Given the description of an element on the screen output the (x, y) to click on. 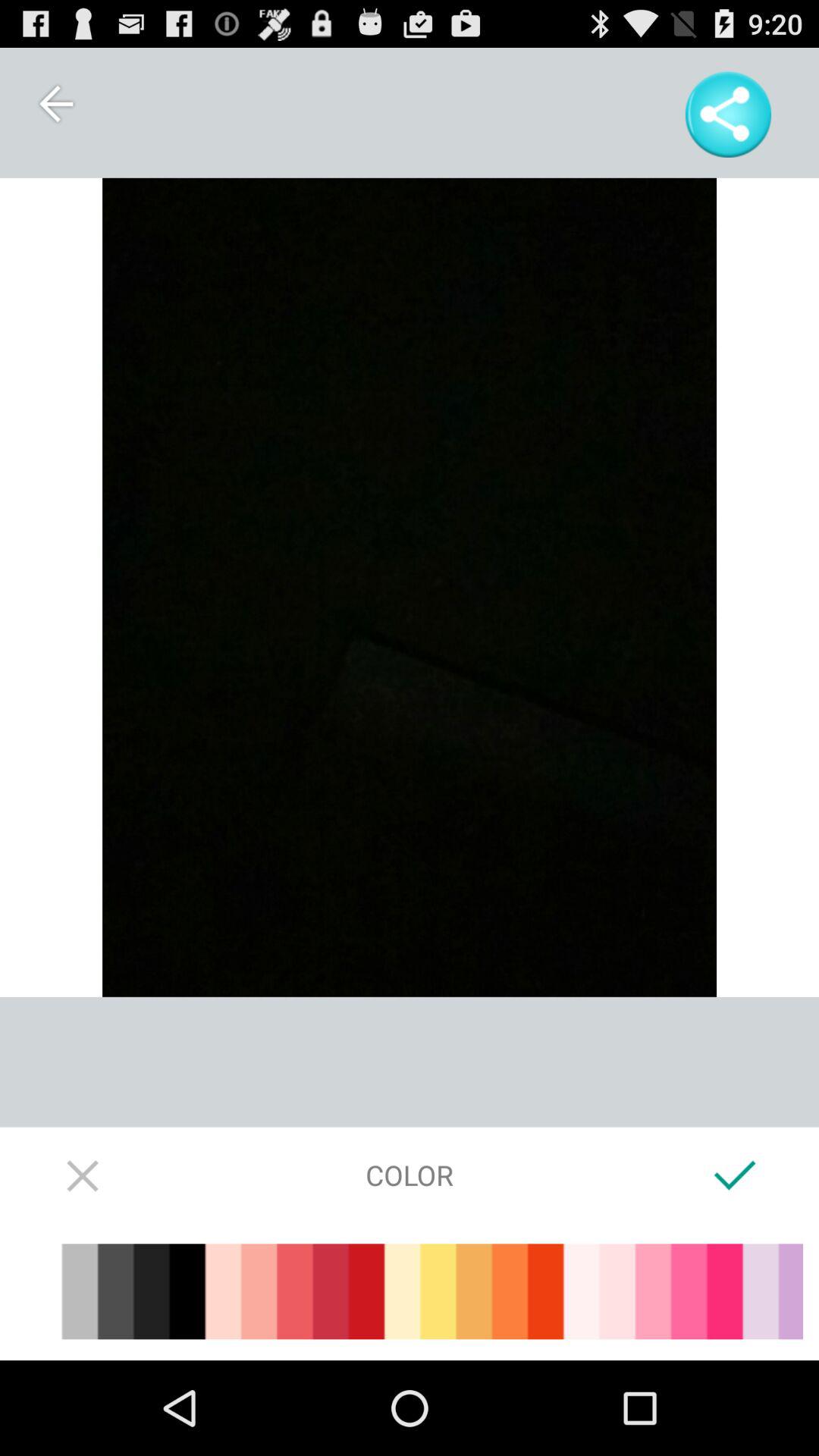
close screen (83, 1174)
